Given the description of an element on the screen output the (x, y) to click on. 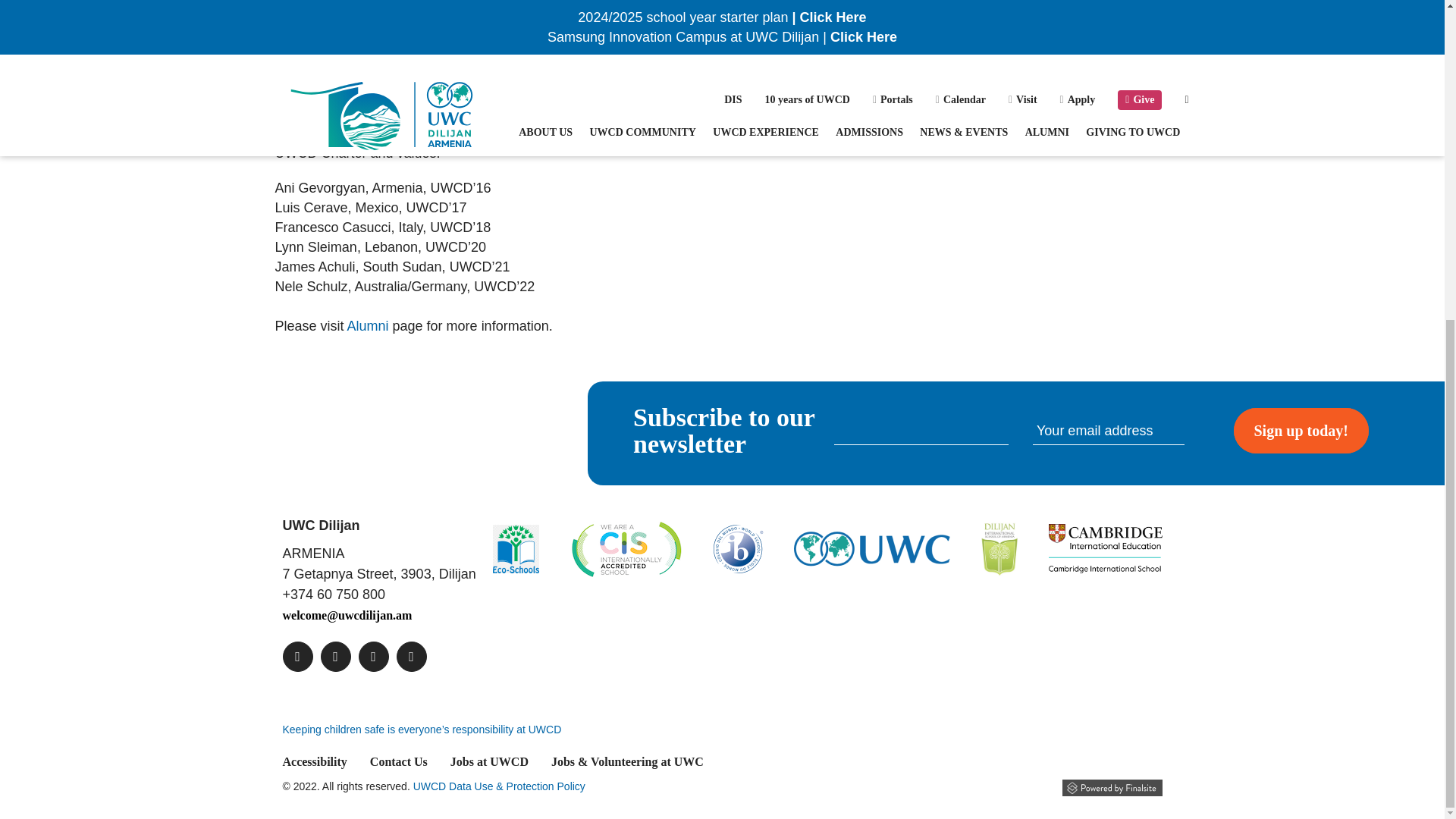
Powered by Finalsite opens in a new window (1111, 787)
Embedded Form - Form (1000, 430)
